Given the description of an element on the screen output the (x, y) to click on. 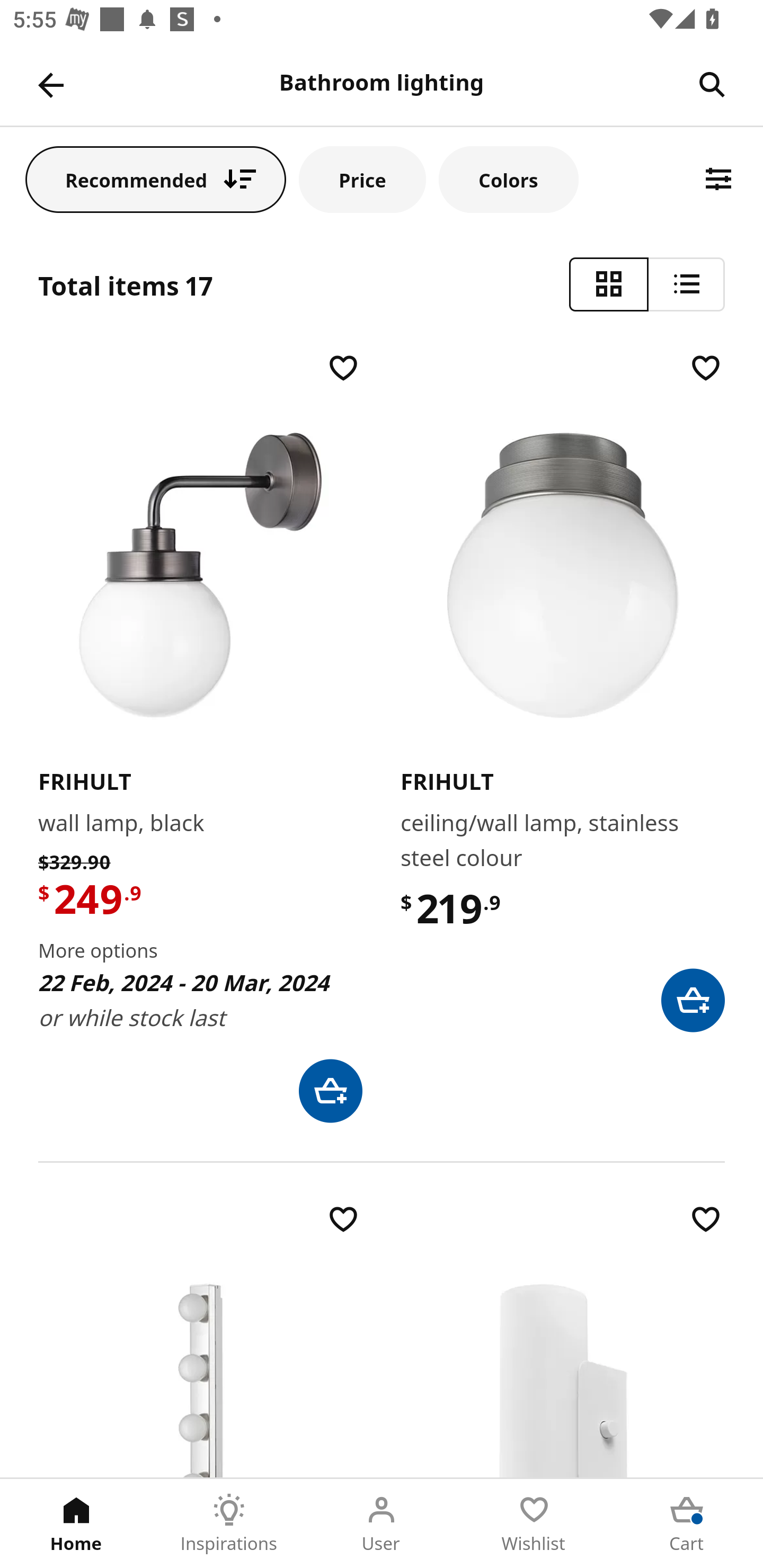
Recommended (155, 179)
Price (362, 179)
Colors (508, 179)
Home
Tab 1 of 5 (76, 1522)
Inspirations
Tab 2 of 5 (228, 1522)
User
Tab 3 of 5 (381, 1522)
Wishlist
Tab 4 of 5 (533, 1522)
Cart
Tab 5 of 5 (686, 1522)
